Given the description of an element on the screen output the (x, y) to click on. 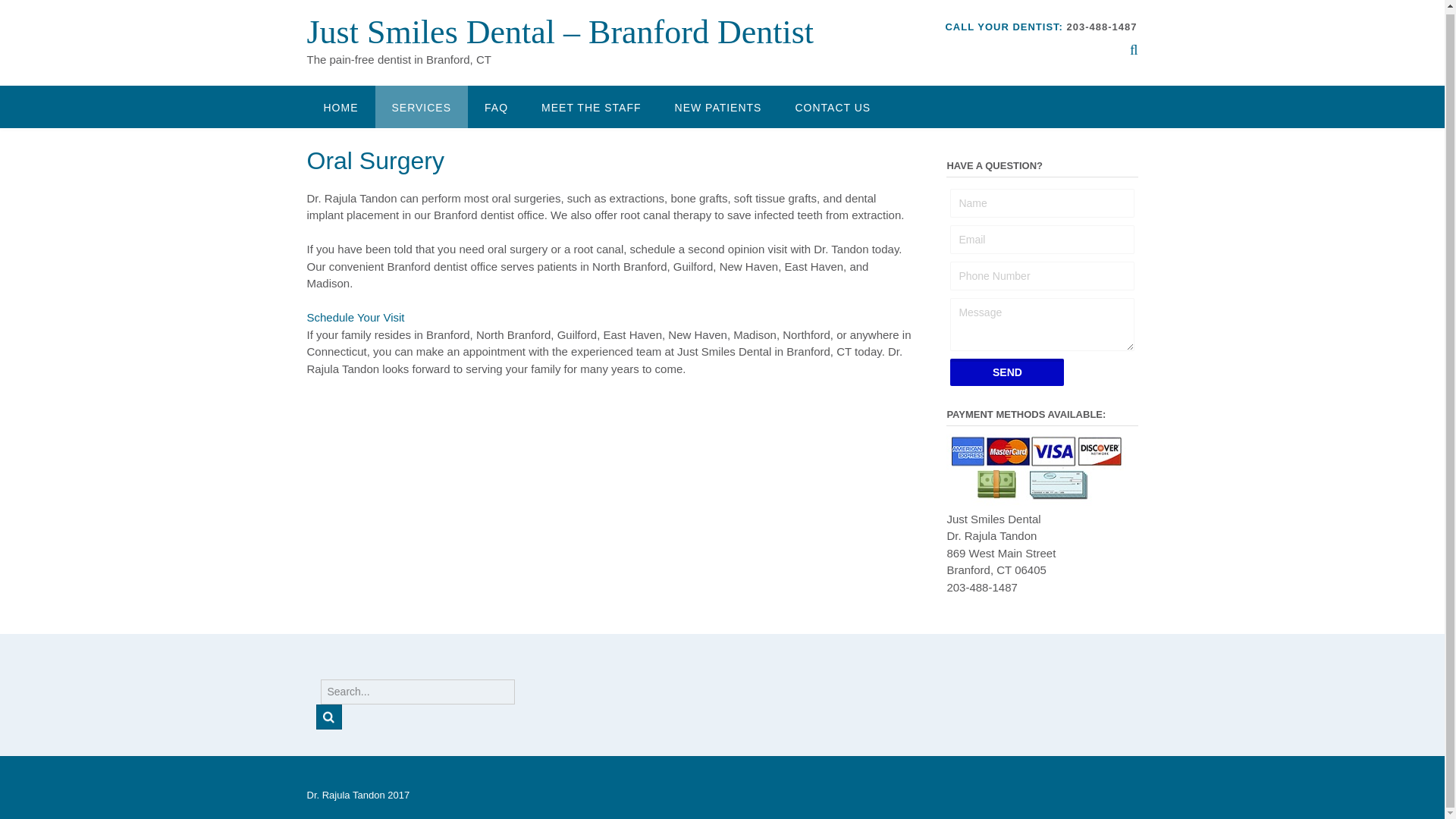
FAQ (495, 106)
MEET THE STAFF (591, 106)
Send (1007, 371)
CONTACT US (831, 106)
Search for: (416, 691)
Send (1007, 371)
SERVICES (420, 106)
HOME (339, 106)
NEW PATIENTS (718, 106)
